Given the description of an element on the screen output the (x, y) to click on. 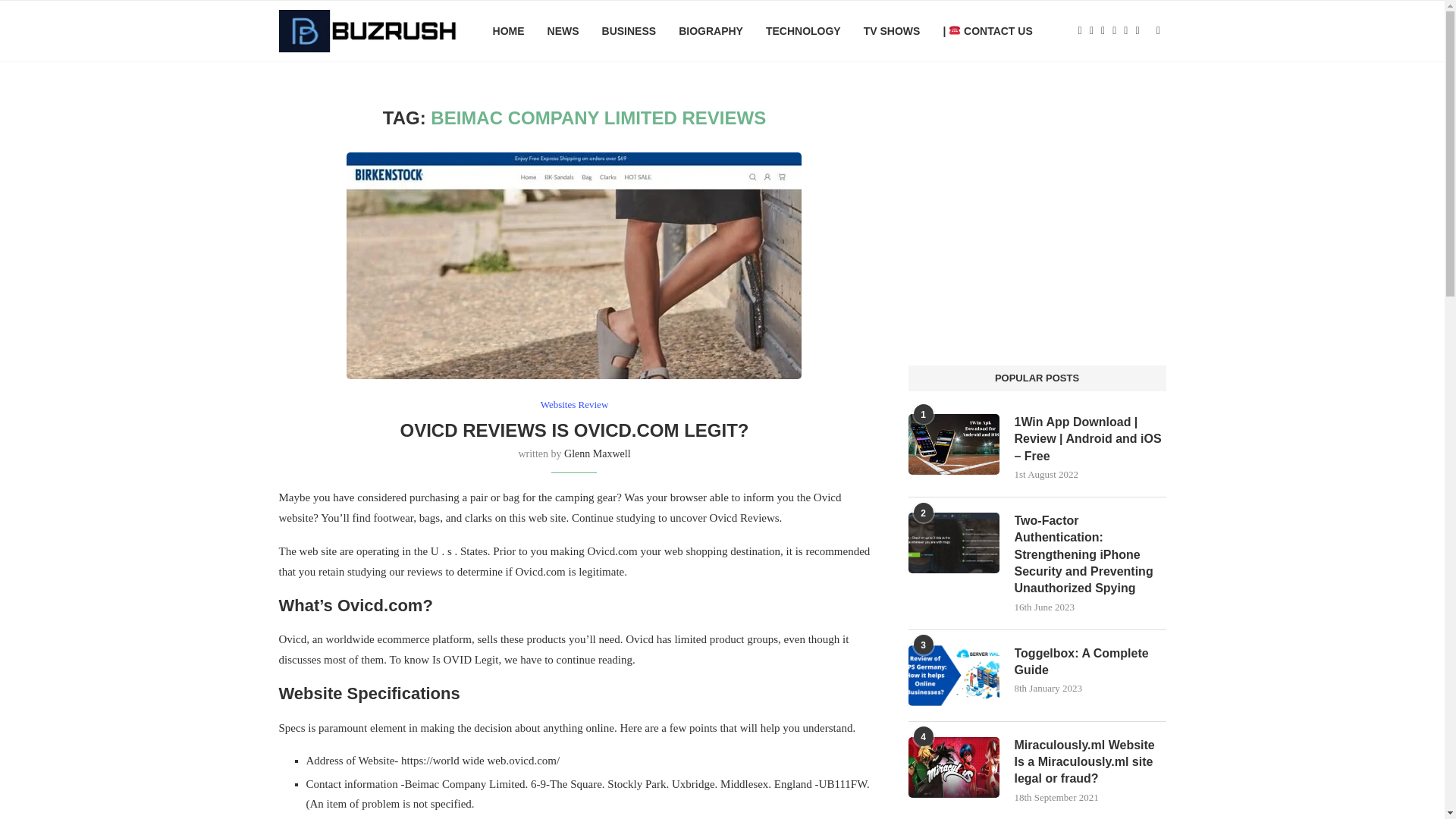
Glenn Maxwell (597, 453)
Advertisement (1037, 213)
BUSINESS (629, 30)
Websites Review (574, 404)
Toggelbox: A Complete Guide (1090, 662)
Toggelbox: A Complete Guide (953, 675)
Toggelbox: A Complete Guide (1090, 662)
TECHNOLOGY (803, 30)
OVICD REVIEWS IS OVICD.COM LEGIT? (573, 430)
